Given the description of an element on the screen output the (x, y) to click on. 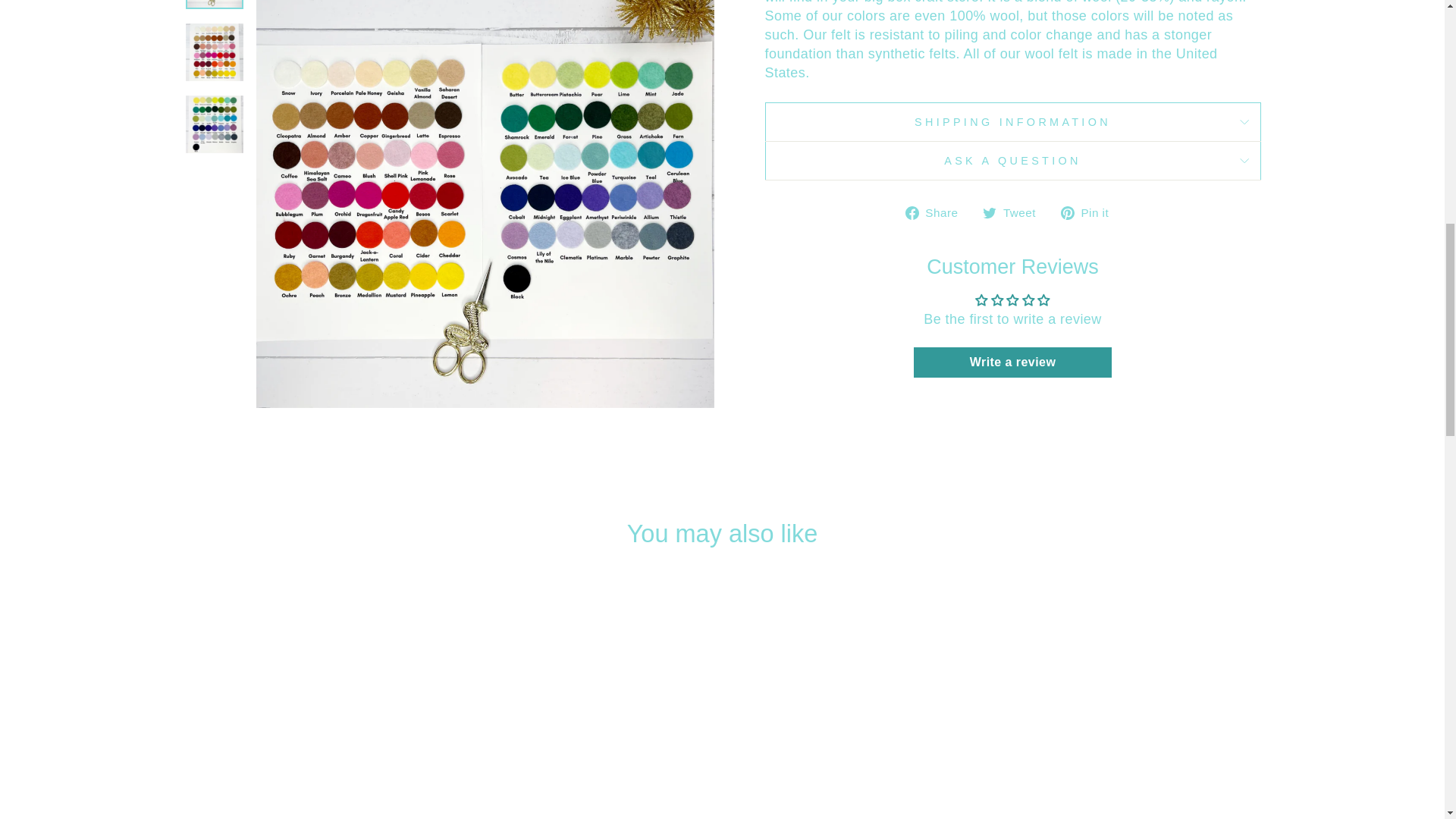
SHIPPING INFORMATION (1012, 121)
twitter (988, 213)
Pin on Pinterest (1090, 212)
Tweet on Twitter (1014, 212)
Share on Facebook (937, 212)
